Given the description of an element on the screen output the (x, y) to click on. 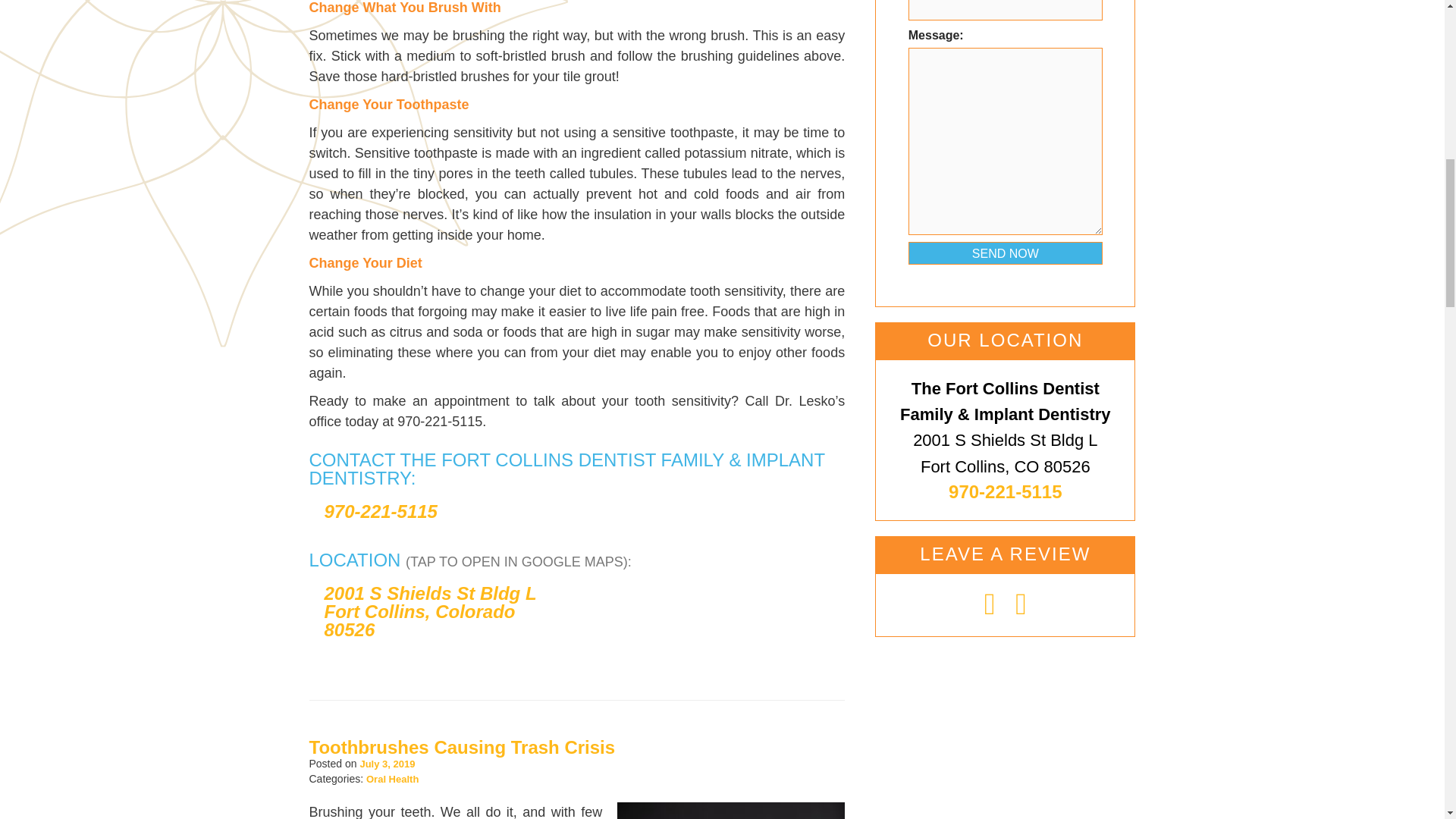
Send Now (1005, 252)
